Given the description of an element on the screen output the (x, y) to click on. 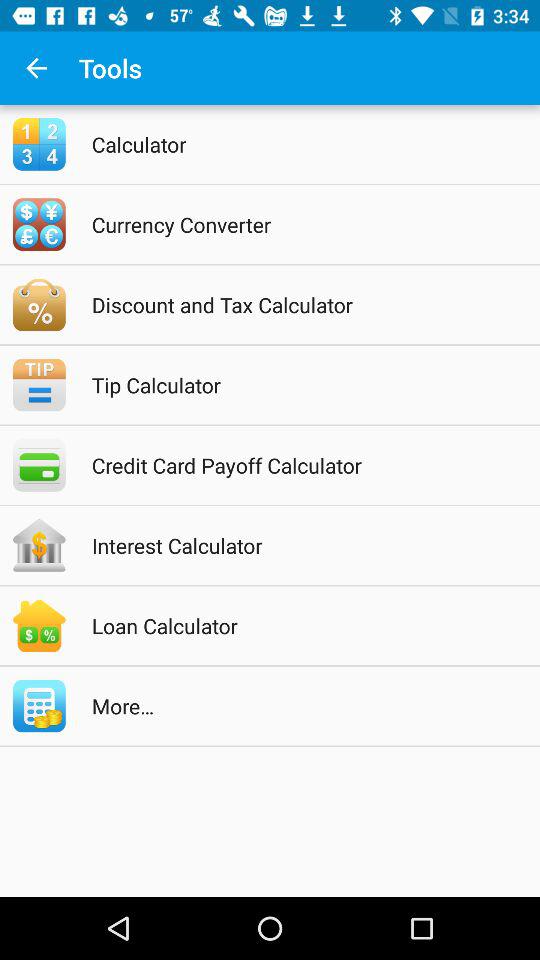
launch loan calculator icon (295, 625)
